Given the description of an element on the screen output the (x, y) to click on. 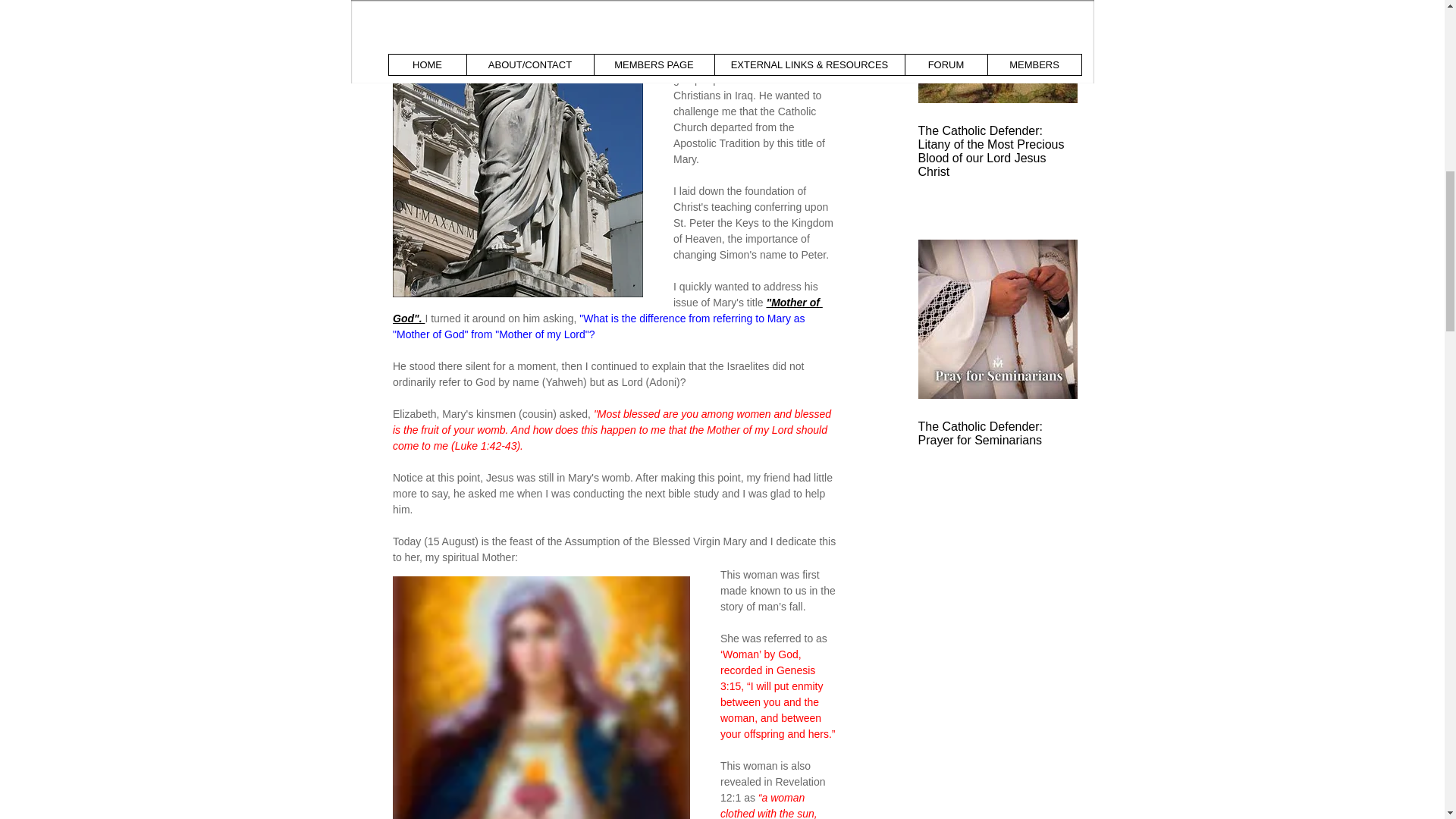
The Catholic Defender: Prayer for Seminarians (997, 433)
